Given the description of an element on the screen output the (x, y) to click on. 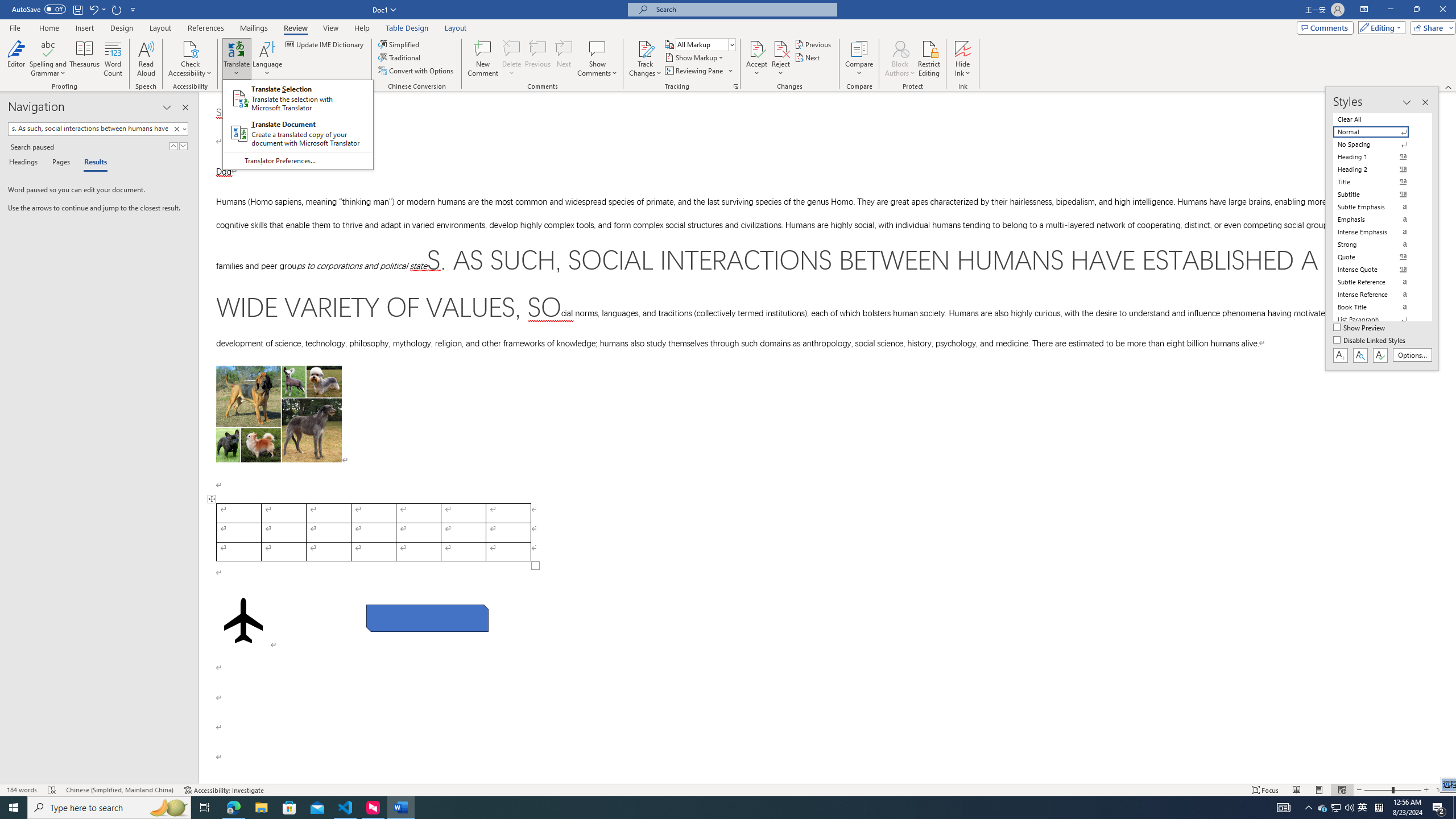
Word - 1 running window (400, 807)
Clear All (1377, 119)
Previous (813, 44)
Show desktop (1454, 807)
Show Markup (695, 56)
Accept (756, 58)
Visual Studio Code - 1 running window (345, 807)
Headings (25, 162)
Class: NetUIButton (1380, 355)
Clear (178, 128)
